Given the description of an element on the screen output the (x, y) to click on. 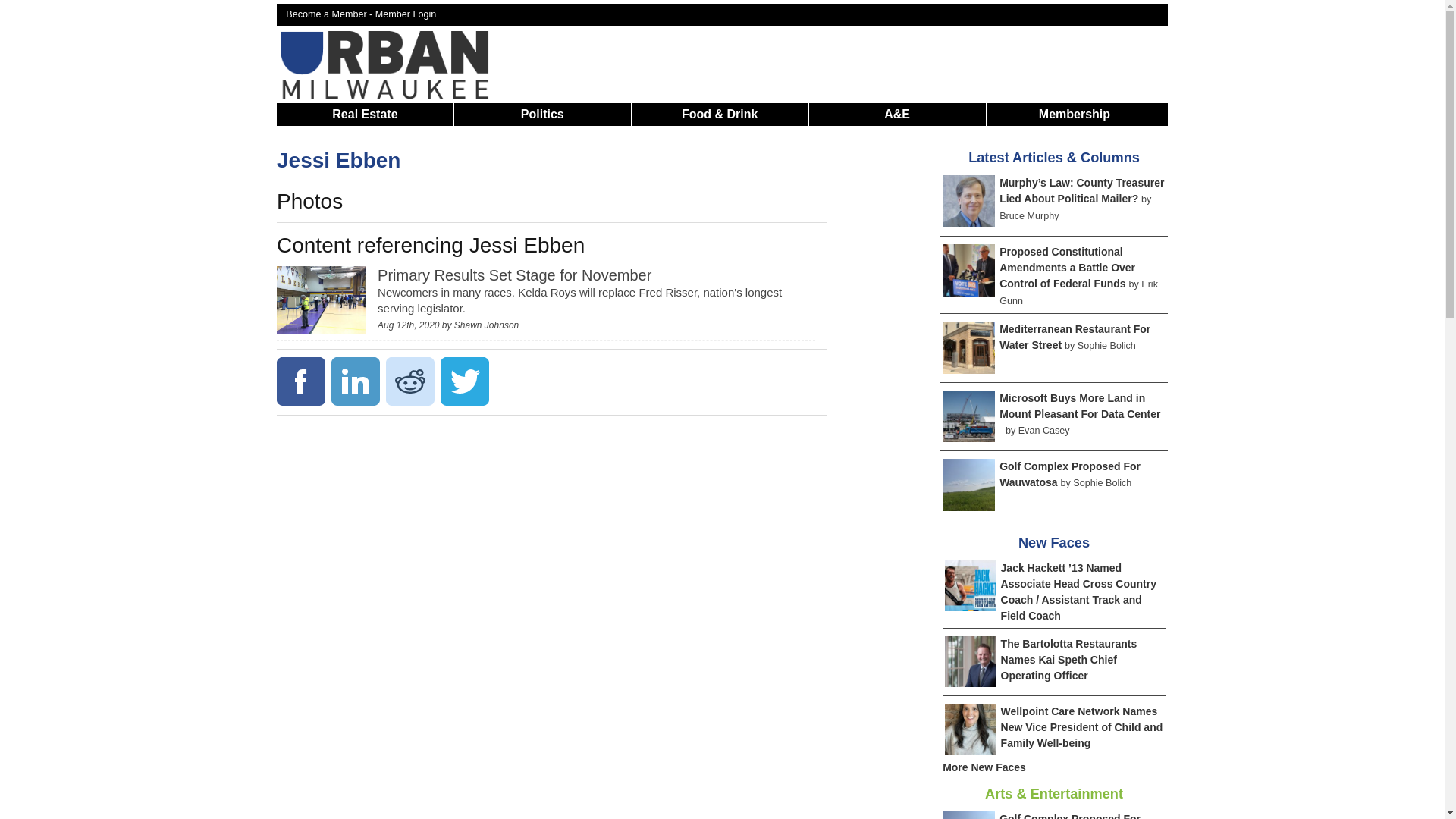
Politics (542, 113)
Primary Results Set Stage for November (513, 274)
Posts by Shawn Johnson (486, 325)
Jessi Ebben (338, 159)
Shawn Johnson (486, 325)
Member Login (405, 14)
Real Estate (364, 113)
Become a Member - (330, 14)
Membership (1074, 113)
